Given the description of an element on the screen output the (x, y) to click on. 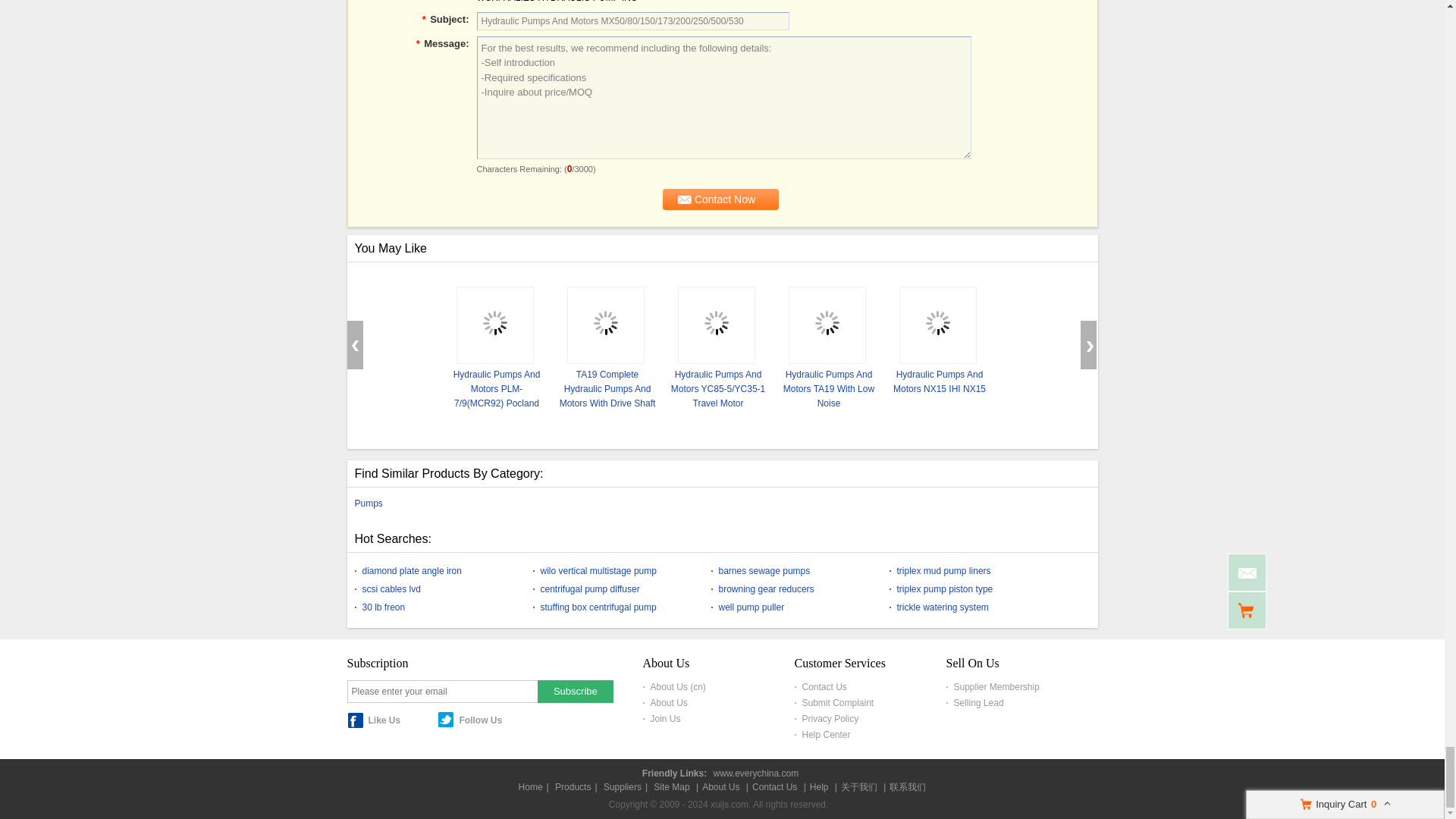
Cheap Hydraulic Pumps And Motors NX15 IHI NX15 for sale (939, 380)
Contact China factory now (720, 198)
Subscribe (574, 690)
TA19 Complete Hydraulic Pumps And Motors With Drive Shaft (607, 387)
Best Hydraulic Pumps And Motors NX15 IHI NX15 wholesale (937, 324)
Contact Now (720, 198)
